Given the description of an element on the screen output the (x, y) to click on. 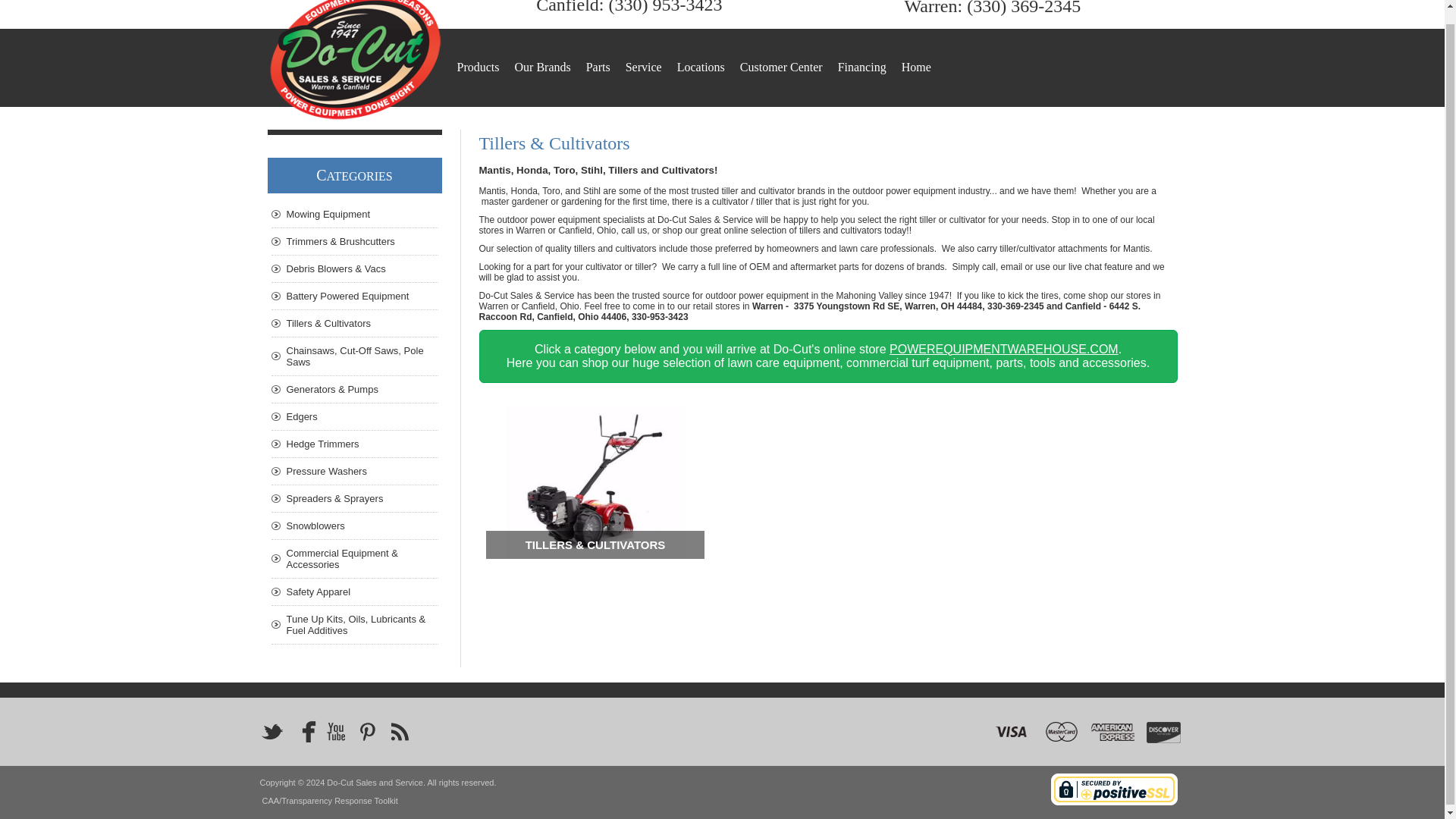
Products (478, 66)
Home (916, 66)
Our Brands (541, 66)
Financing (862, 66)
Do-Cut Sales and Service (353, 61)
Parts (598, 66)
Service (644, 66)
Customer Center (780, 66)
Locations (701, 66)
Products (478, 66)
